Given the description of an element on the screen output the (x, y) to click on. 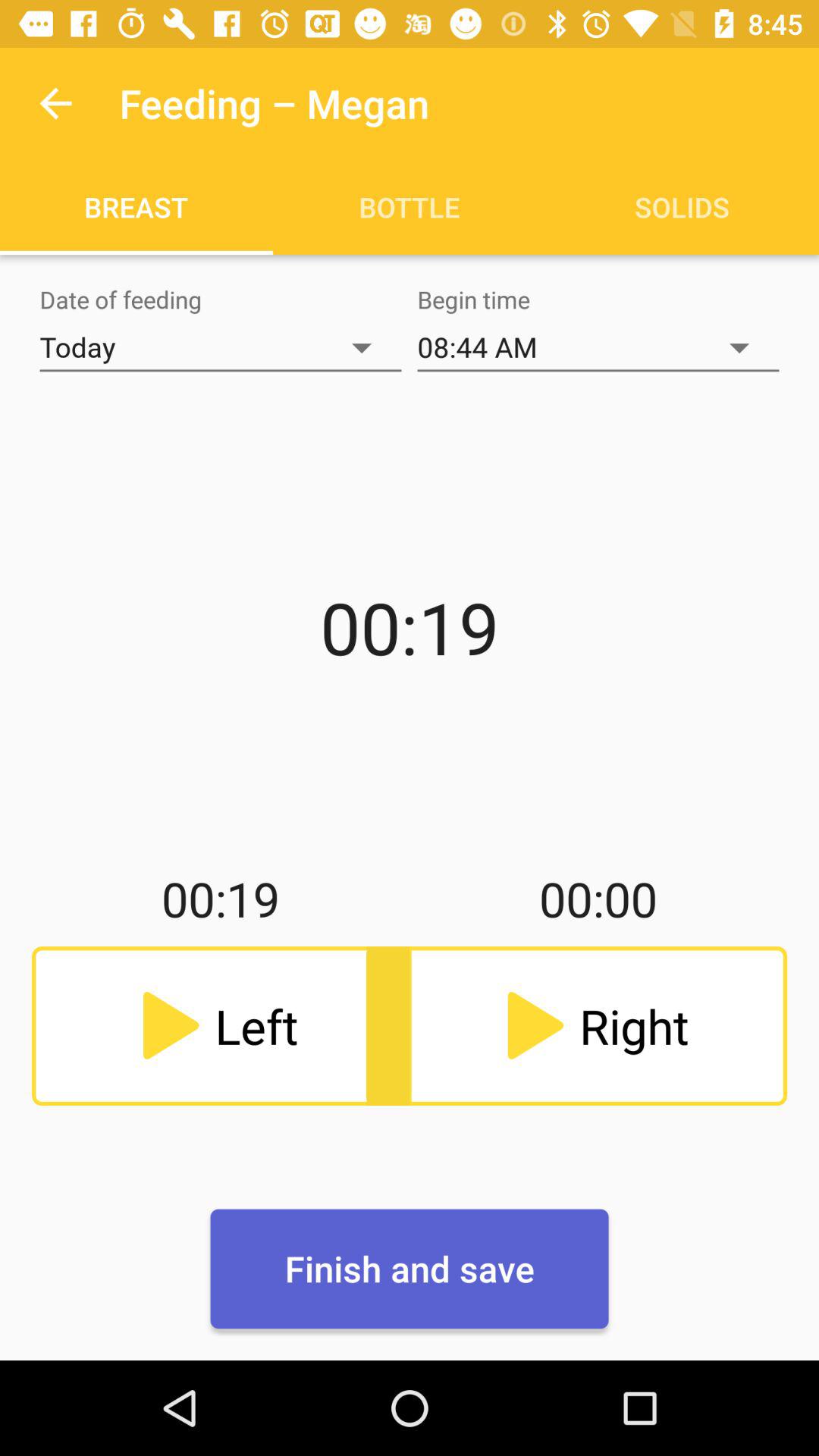
turn off icon above the breast (55, 103)
